Given the description of an element on the screen output the (x, y) to click on. 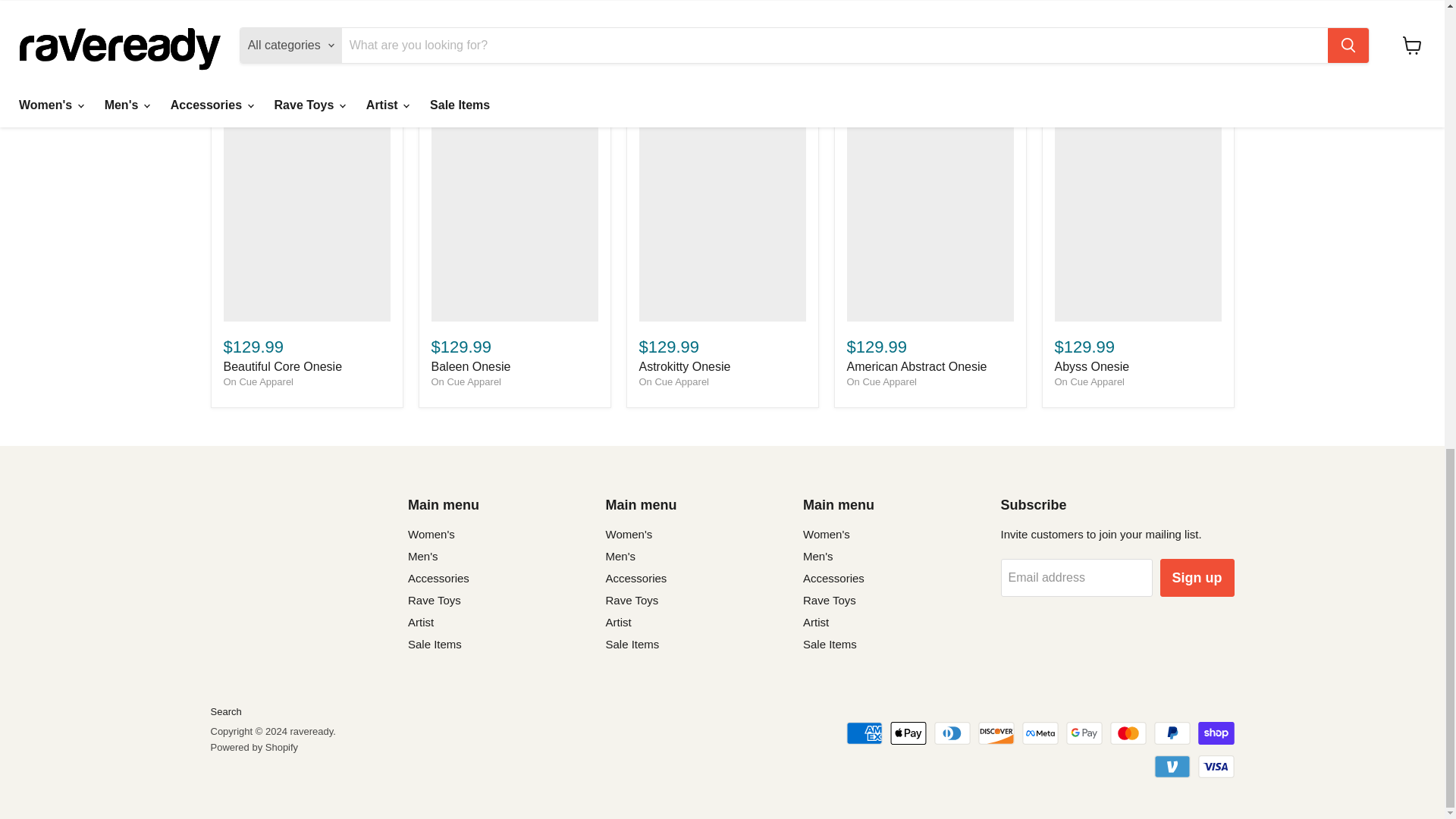
On Cue Apparel (881, 381)
On Cue Apparel (674, 381)
American Express (863, 732)
On Cue Apparel (465, 381)
On Cue Apparel (1089, 381)
Diners Club (952, 732)
Apple Pay (907, 732)
On Cue Apparel (258, 381)
